Given the description of an element on the screen output the (x, y) to click on. 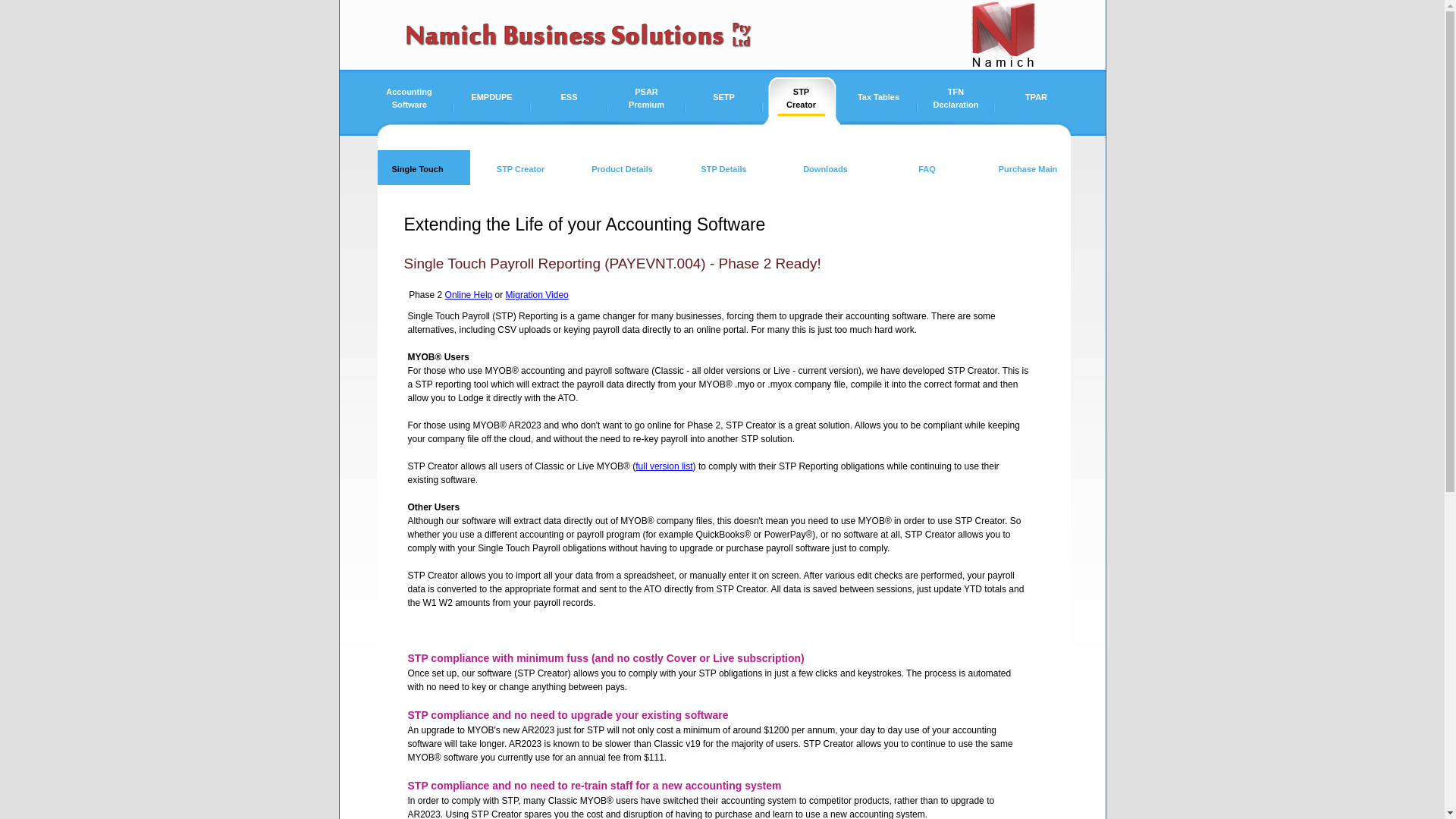
FAQ Element type: text (927, 167)
TPAR Element type: text (1036, 106)
Tax Tables Element type: text (878, 106)
ESS Element type: text (569, 106)
Accounting
Software      Element type: text (415, 106)
STP
Creator Element type: text (801, 106)
STP Creator Element type: text (520, 167)
Single Touch Element type: text (423, 167)
TFN
Declaration Element type: text (955, 106)
Purchase Main Element type: text (1027, 167)
EMPDUPE Element type: text (491, 106)
full version list Element type: text (663, 466)
Downloads Element type: text (825, 167)
PSAR
Premium Element type: text (646, 106)
STP Details Element type: text (724, 167)
Online Help Element type: text (468, 294)
SETP Element type: text (723, 106)
Product Details Element type: text (622, 167)
Migration Video Element type: text (536, 294)
